Given the description of an element on the screen output the (x, y) to click on. 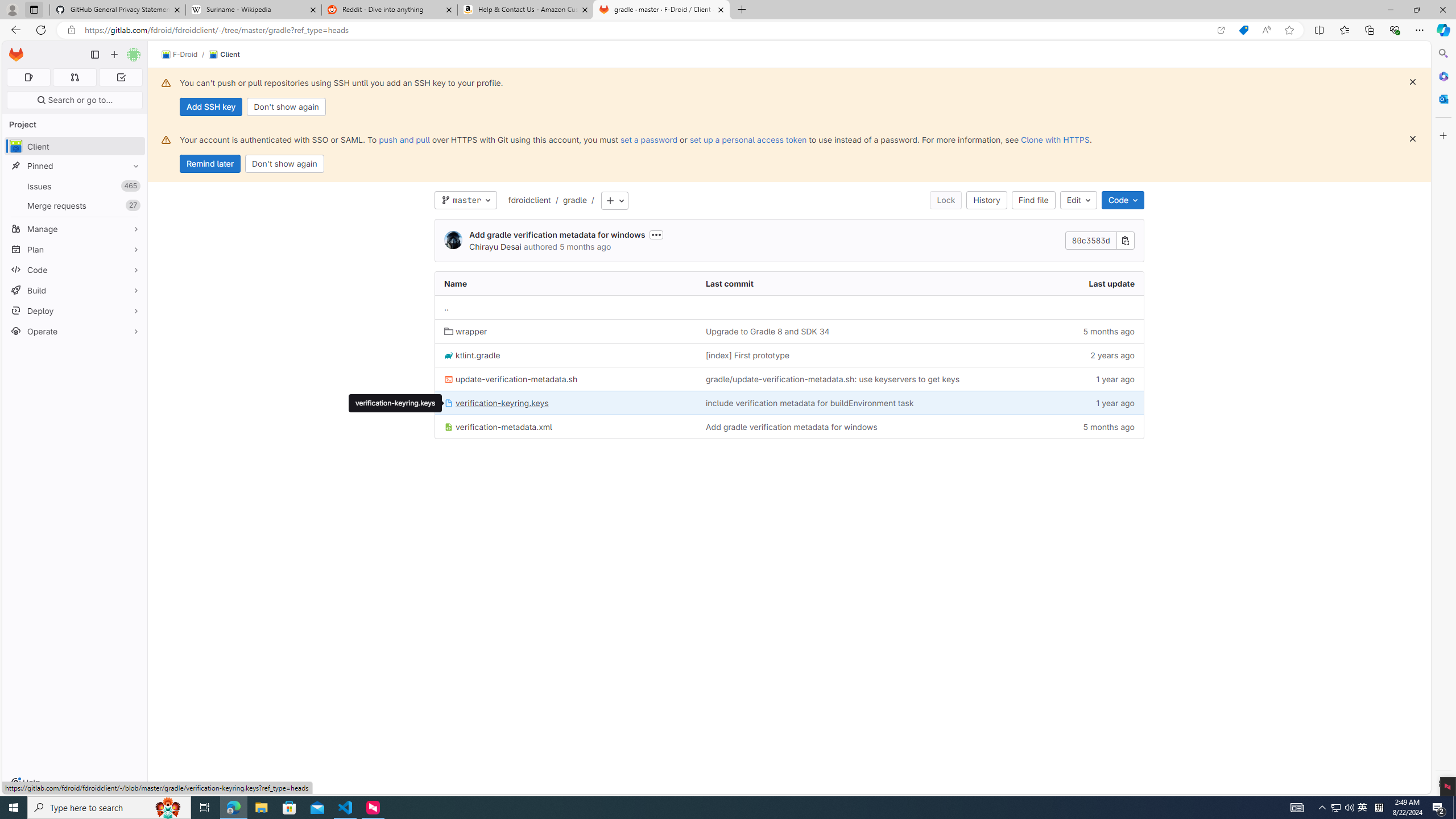
Upgrade to Gradle 8 and SDK 34 (853, 331)
Chirayu Desai's avatar (453, 240)
Client (224, 54)
Issues465 (74, 185)
Merge requests27 (74, 205)
Class: tree-item (789, 426)
Open in app (1220, 29)
Issues 465 (74, 185)
verification-keyring.keys (395, 402)
To-Do list 0 (120, 76)
Operate (74, 330)
fdroidclient (529, 199)
Client (224, 54)
/gradle (568, 200)
